Given the description of an element on the screen output the (x, y) to click on. 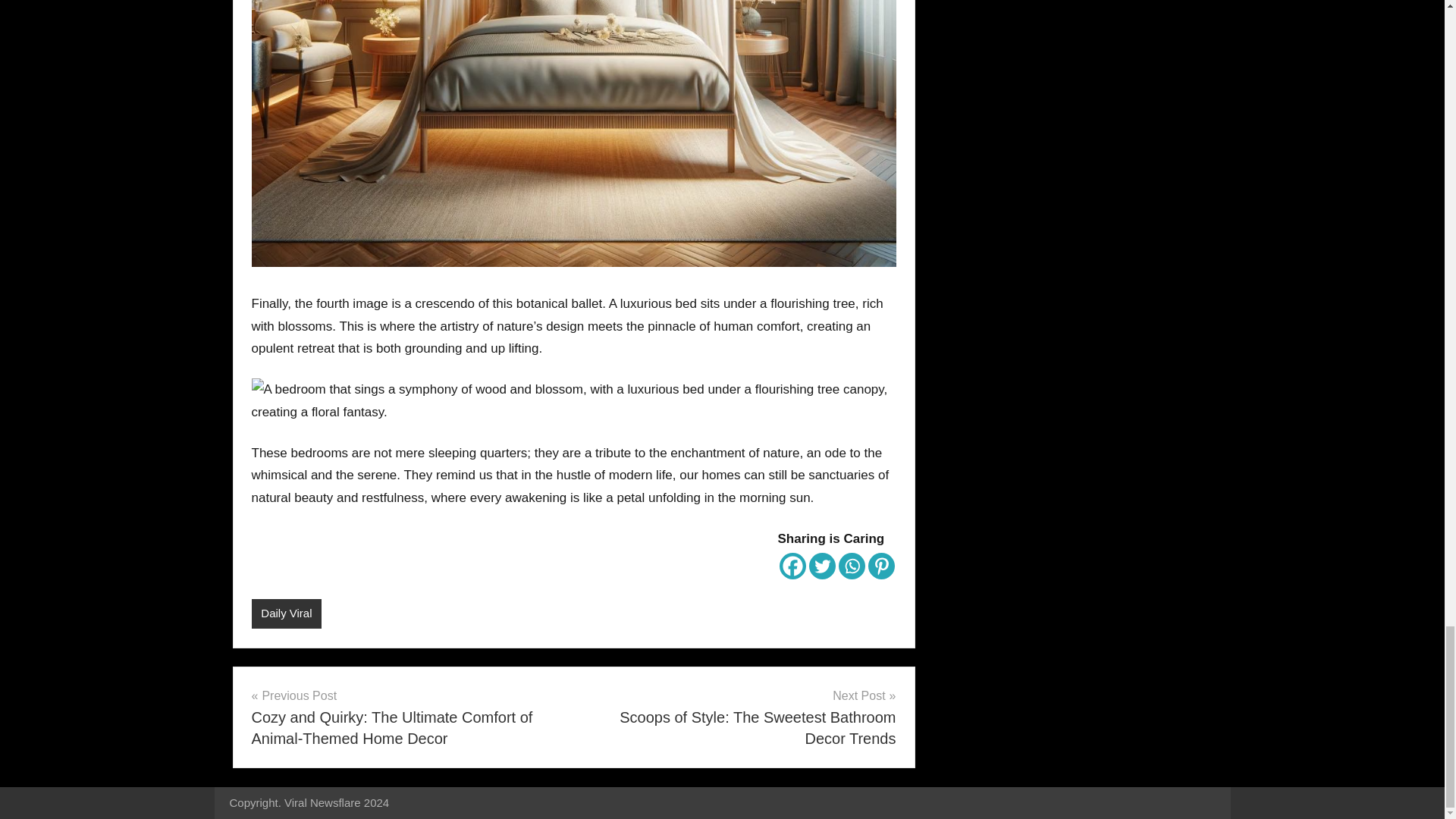
Whatsapp (851, 565)
Facebook (792, 565)
Pinterest (880, 565)
Daily Viral (286, 613)
Twitter (821, 565)
